Given the description of an element on the screen output the (x, y) to click on. 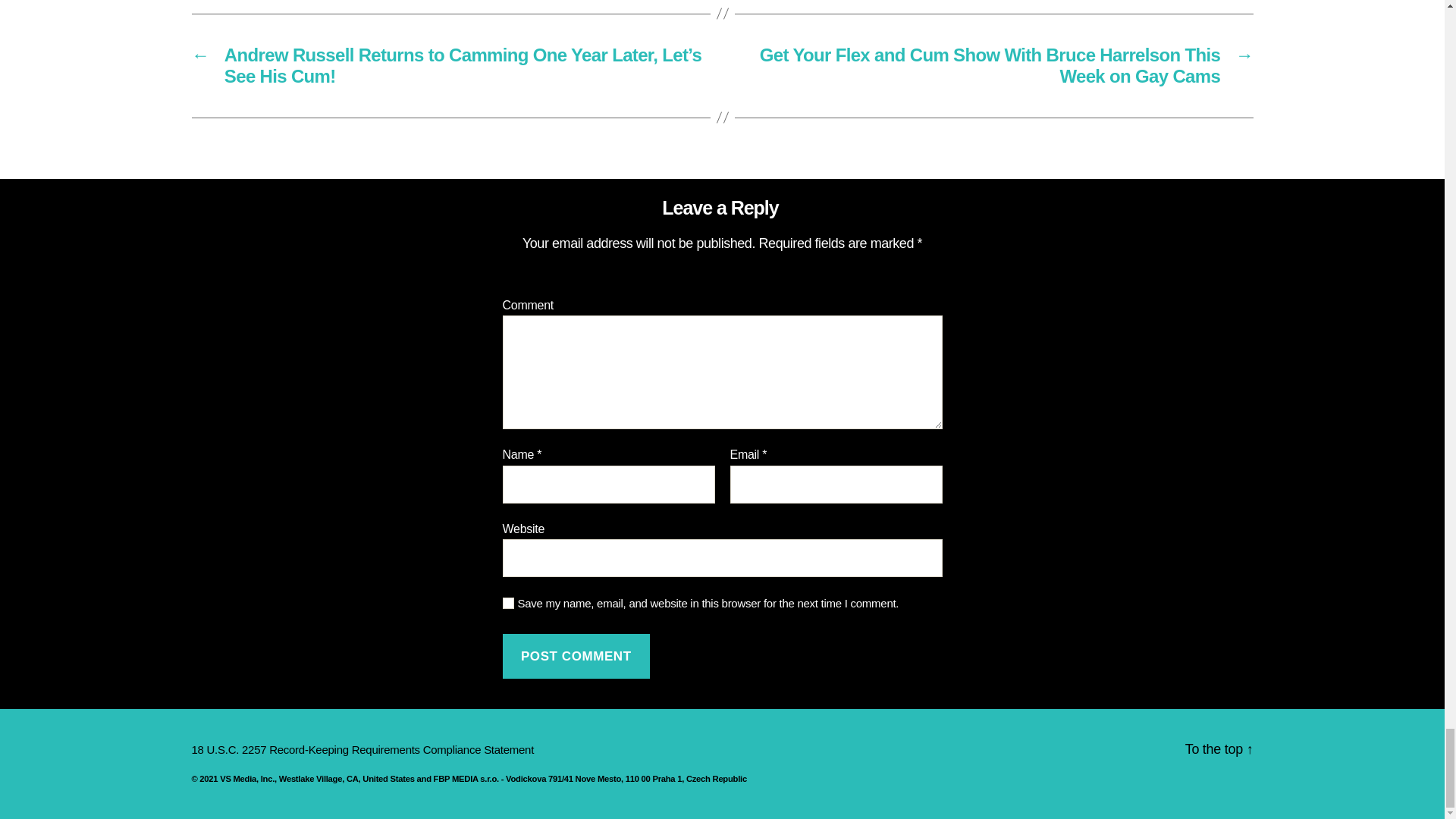
yes (507, 603)
Post Comment (575, 655)
Post Comment (575, 655)
